Given the description of an element on the screen output the (x, y) to click on. 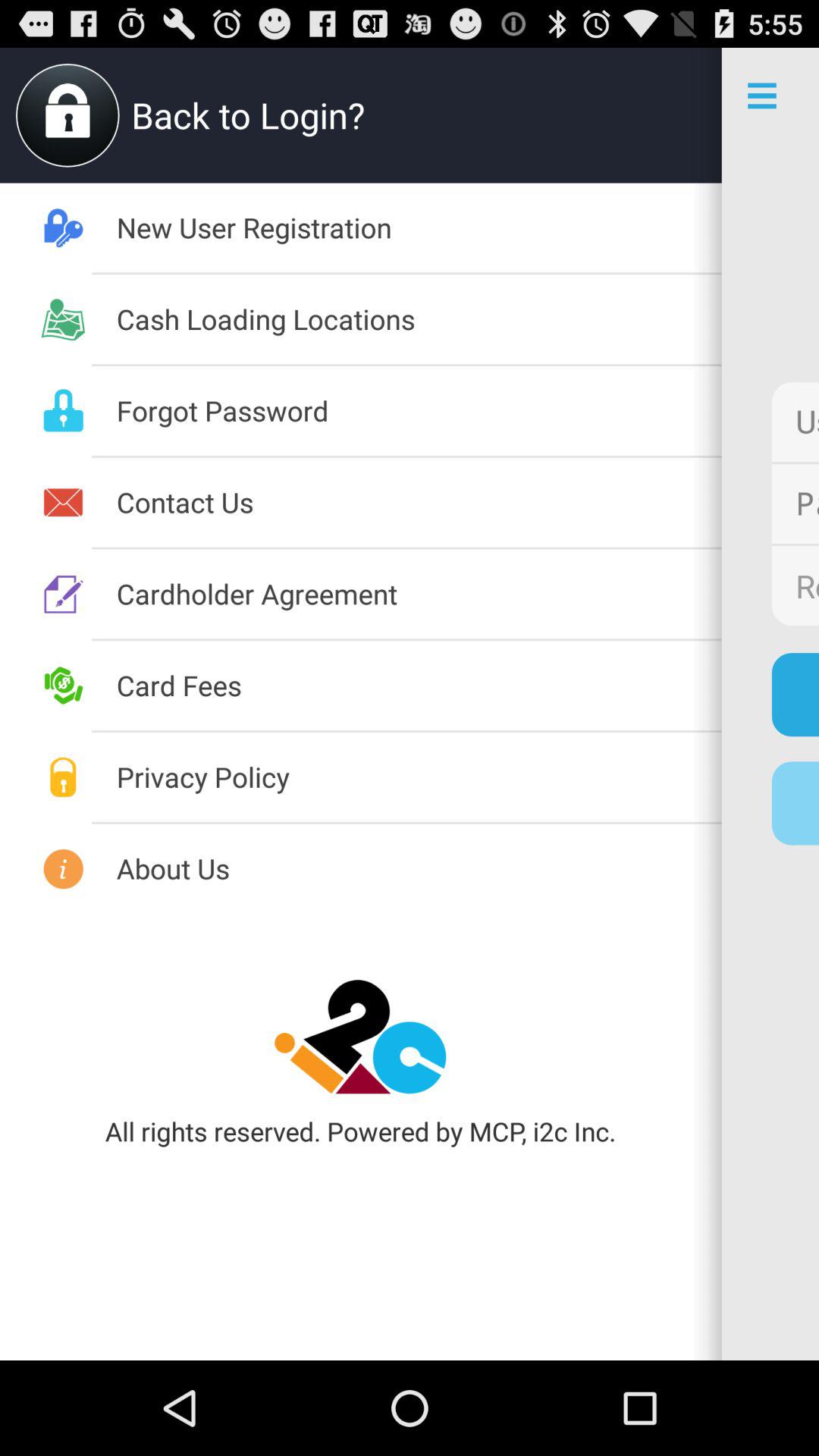
click app to the right of the back to login? (673, 115)
